Given the description of an element on the screen output the (x, y) to click on. 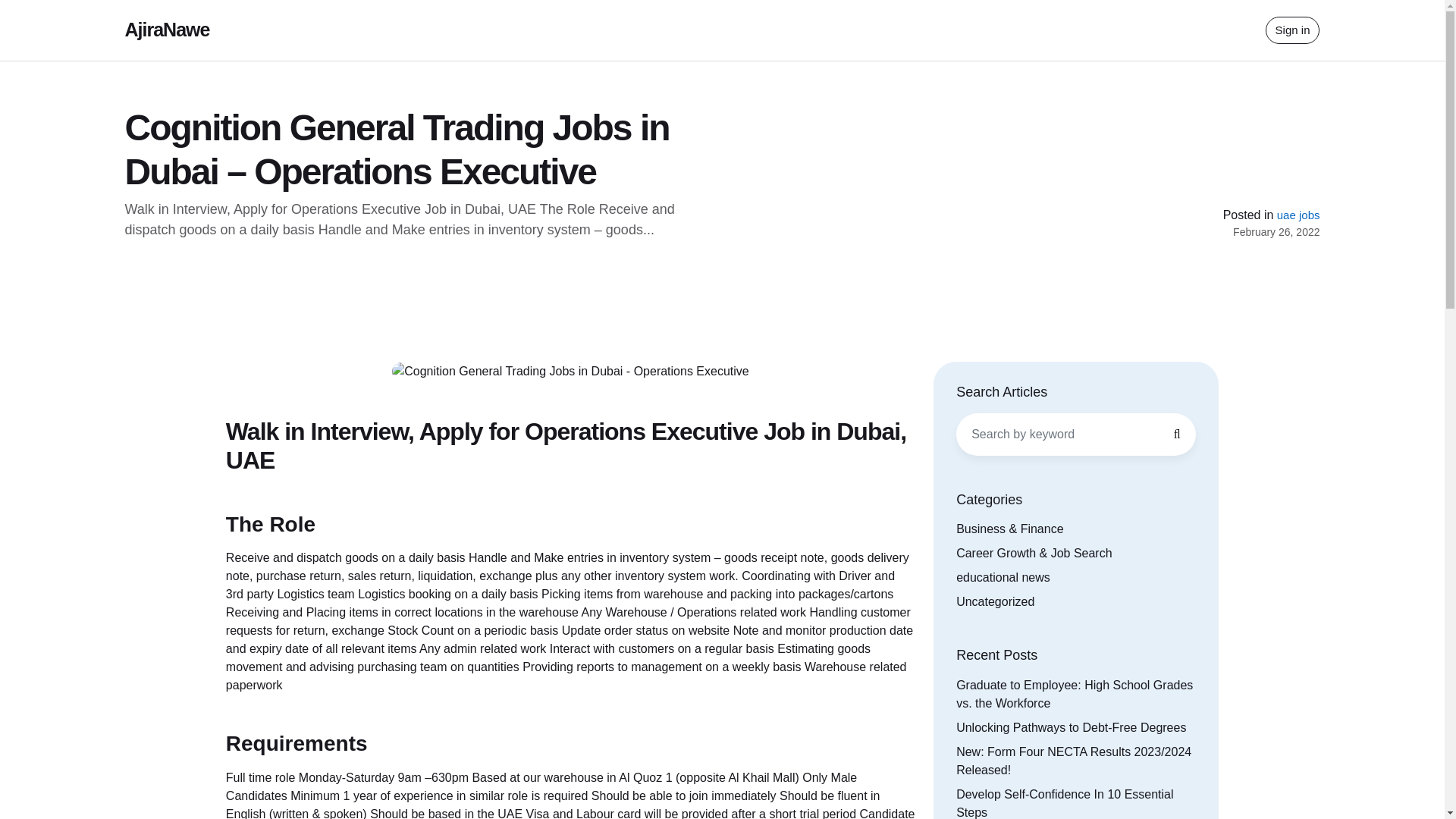
View all posts in uae jobs (1298, 214)
AjiraNawe (166, 29)
Sign in (1292, 30)
uae jobs (1298, 214)
